Given the description of an element on the screen output the (x, y) to click on. 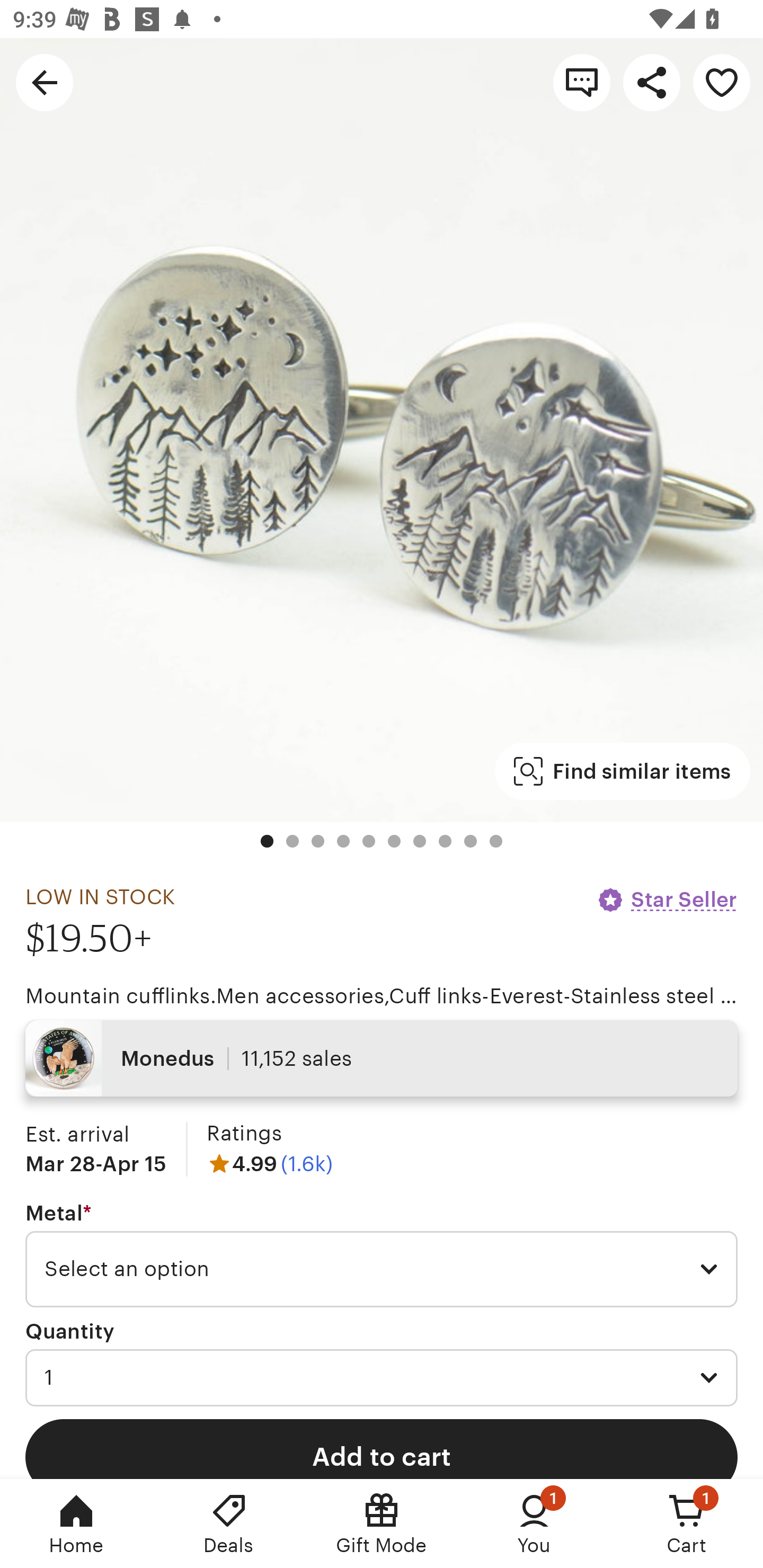
Navigate up (44, 81)
Contact shop (581, 81)
Share (651, 81)
Find similar items (622, 771)
Star Seller (666, 899)
Monedus 11,152 sales (381, 1058)
Ratings (243, 1133)
4.99 (1.6k) (269, 1163)
Metal * Required Select an option (381, 1254)
Select an option (381, 1268)
Quantity (70, 1331)
1 (381, 1377)
Add to cart (381, 1448)
Deals (228, 1523)
Gift Mode (381, 1523)
You, 1 new notification You (533, 1523)
Cart, 1 new notification Cart (686, 1523)
